Given the description of an element on the screen output the (x, y) to click on. 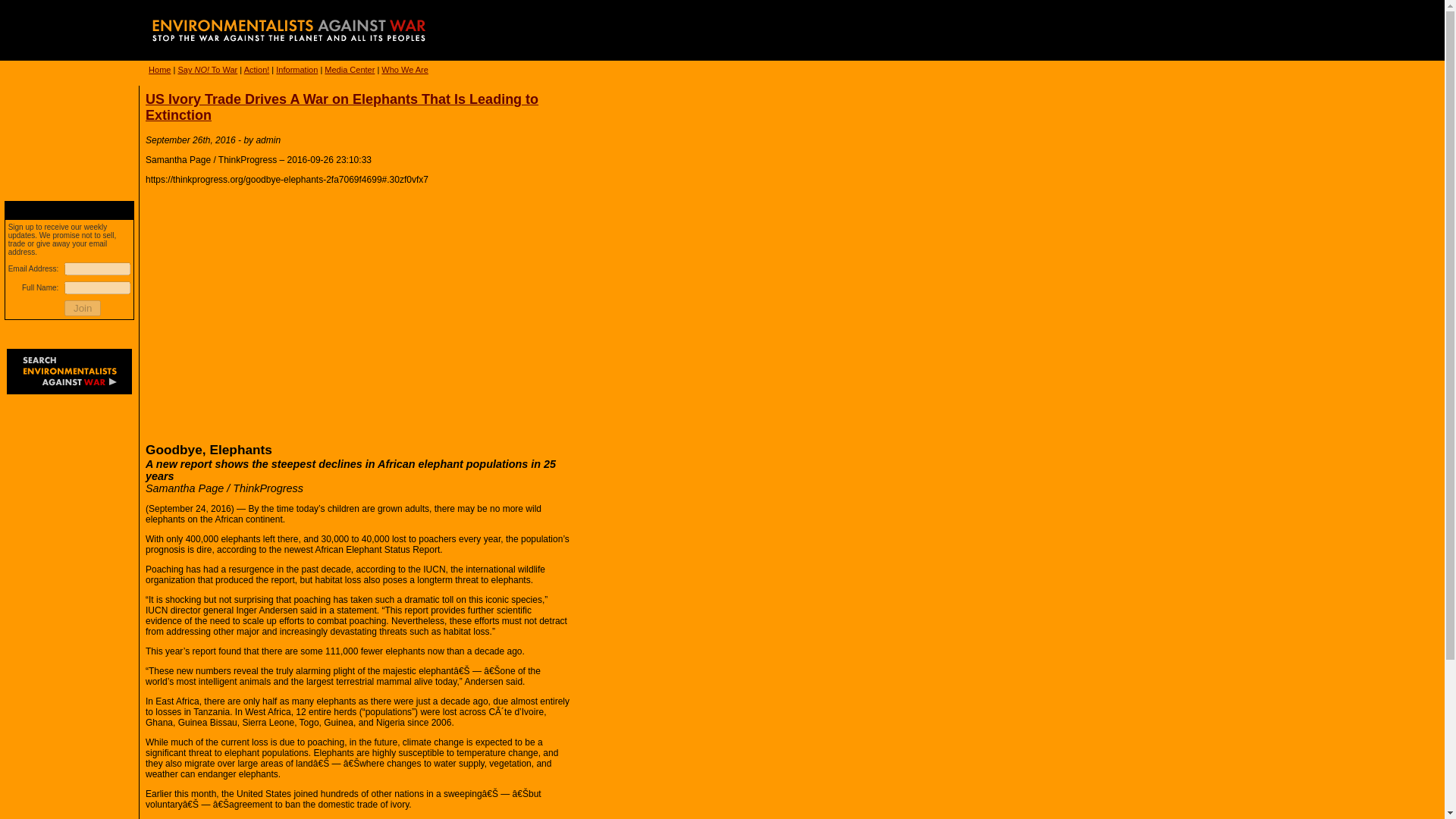
Information (296, 69)
Home (159, 69)
Who We Are (404, 69)
Action! (256, 69)
 Join  (82, 308)
Say NO! To War (207, 69)
Media Center (349, 69)
 Join  (82, 308)
